Given the description of an element on the screen output the (x, y) to click on. 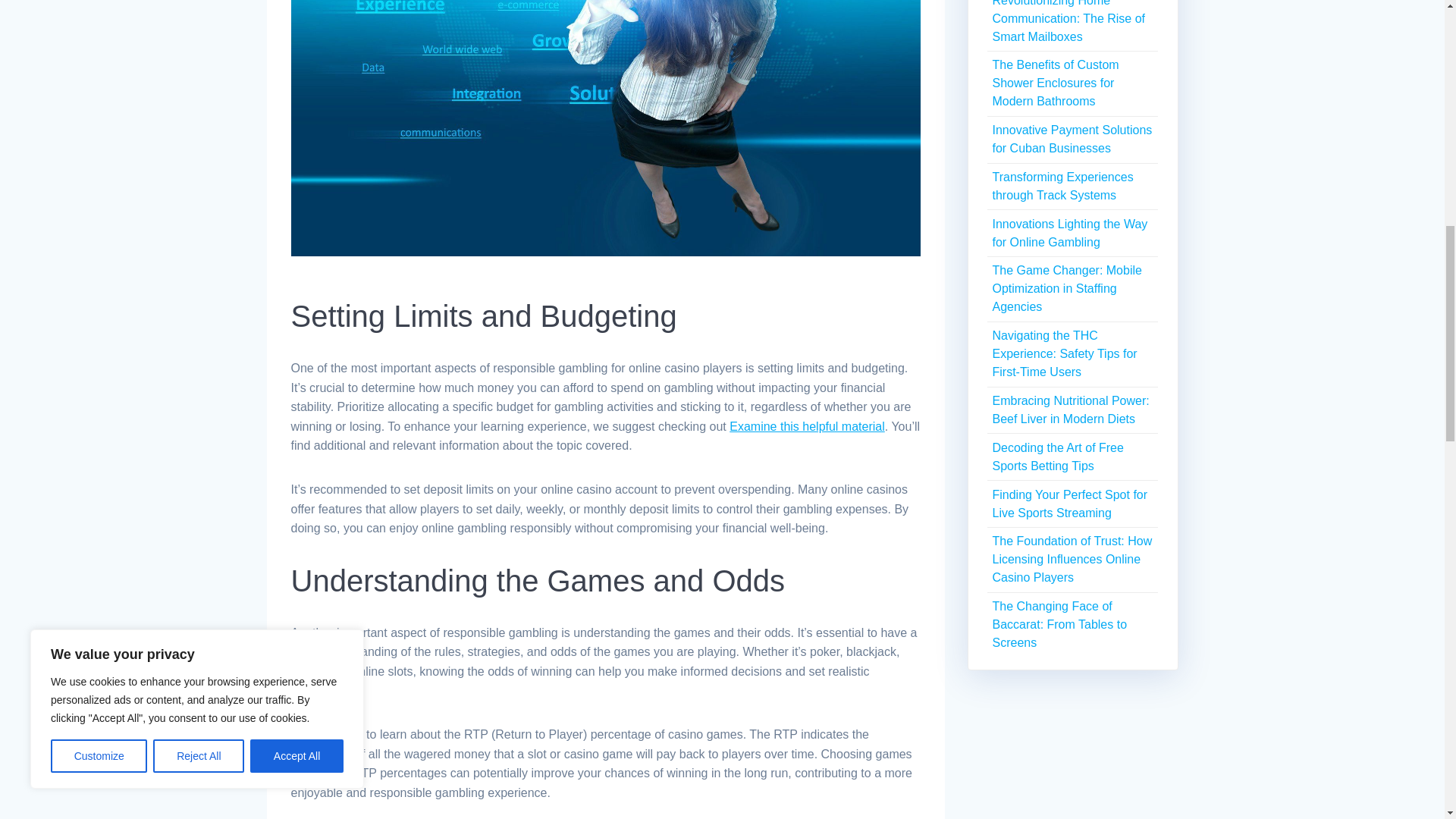
Examine this helpful material (807, 426)
Innovations Lighting the Way for Online Gambling (1069, 232)
Innovative Payment Solutions for Cuban Businesses (1071, 138)
Transforming Experiences through Track Systems (1061, 185)
